Given the description of an element on the screen output the (x, y) to click on. 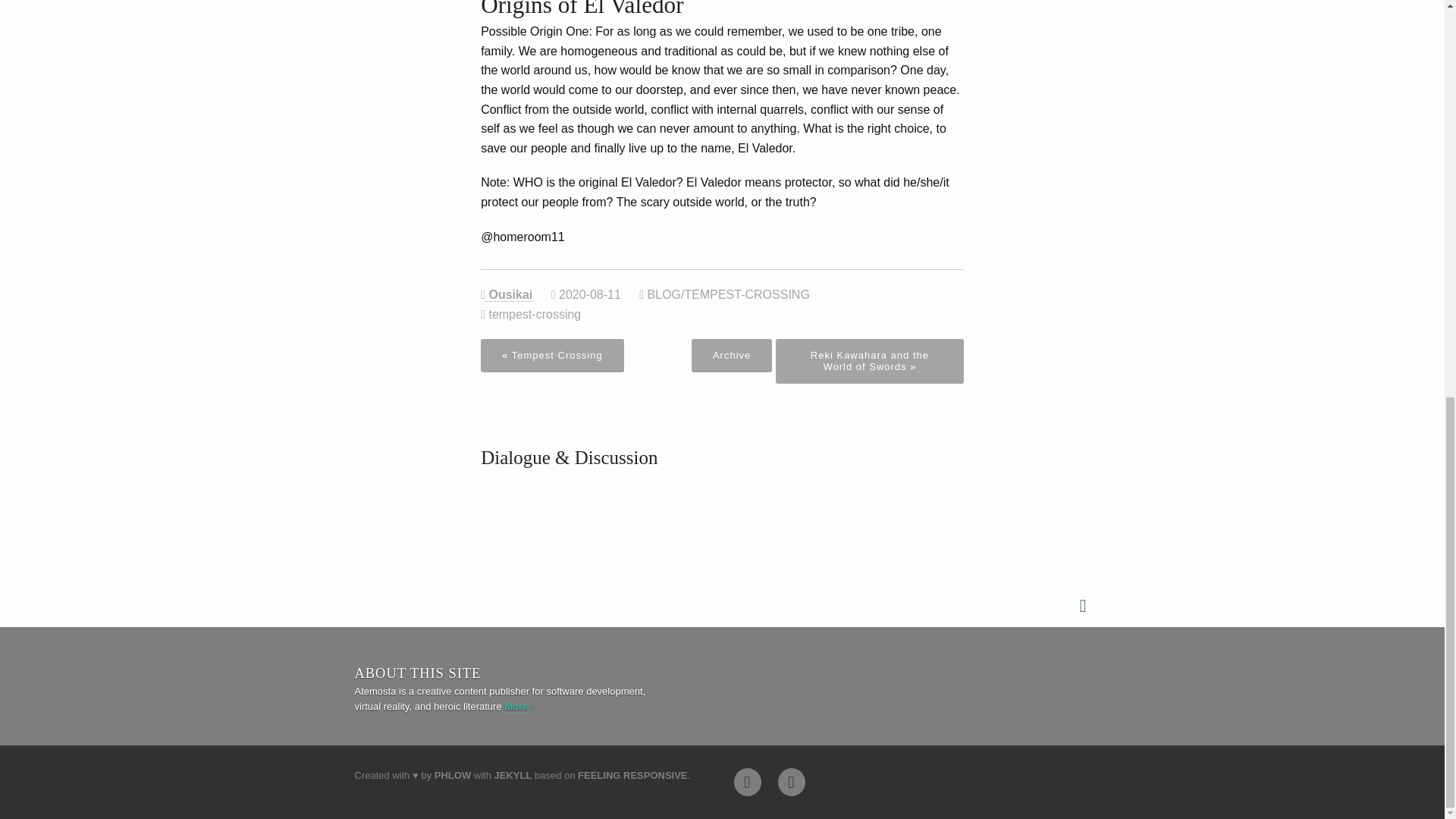
Archive (731, 355)
Ousikai (508, 295)
FEELING RESPONSIVE (632, 775)
Weekly Chapter Updates (791, 782)
JEKYLL (513, 775)
PHLOW (451, 775)
Blog Archive (731, 355)
Source Code (747, 782)
